Given the description of an element on the screen output the (x, y) to click on. 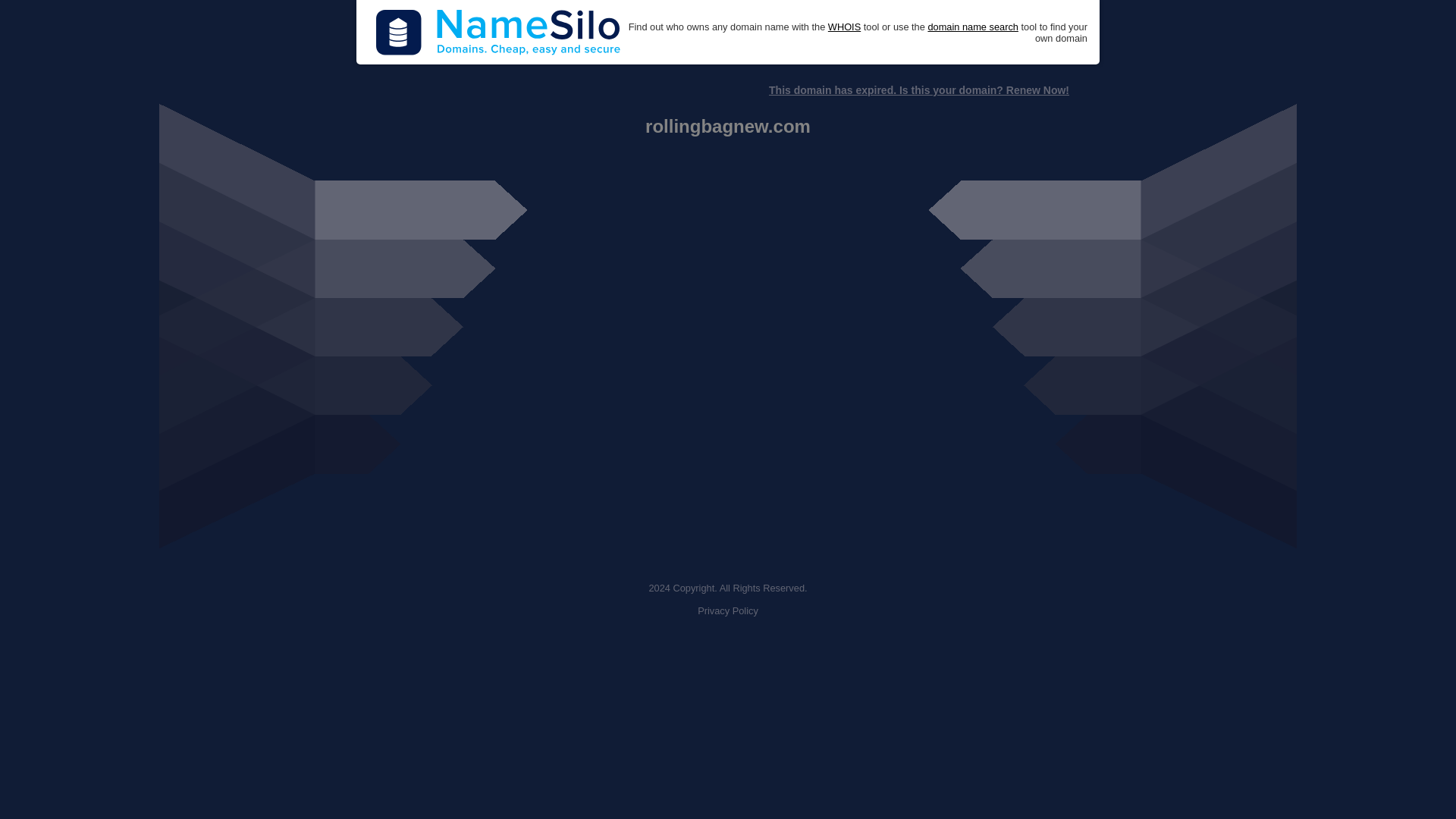
domain name search (972, 26)
WHOIS (844, 26)
Privacy Policy (727, 610)
This domain has expired. Is this your domain? Renew Now! (918, 90)
